Given the description of an element on the screen output the (x, y) to click on. 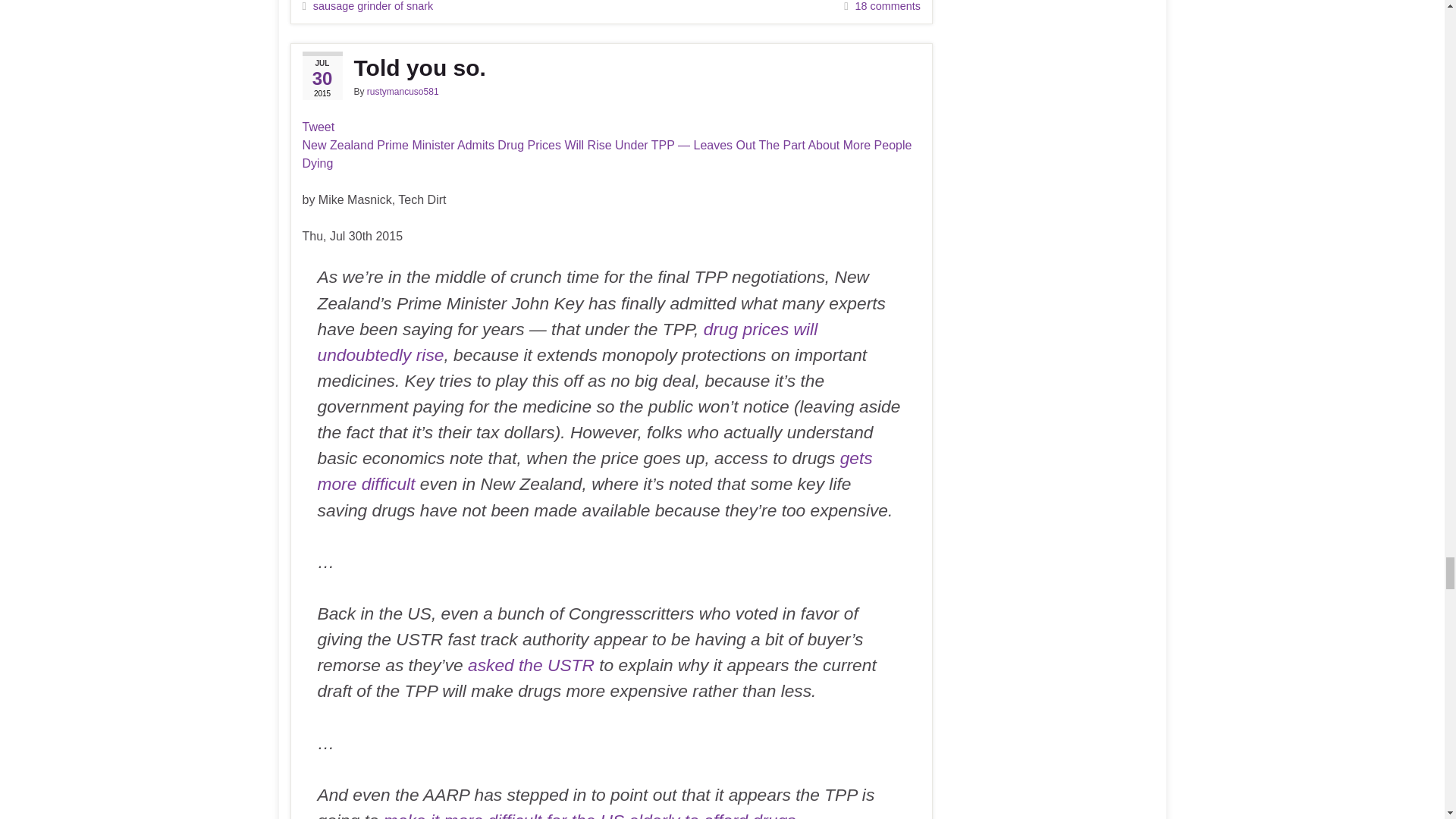
Permalink to Told you so. (610, 68)
